Given the description of an element on the screen output the (x, y) to click on. 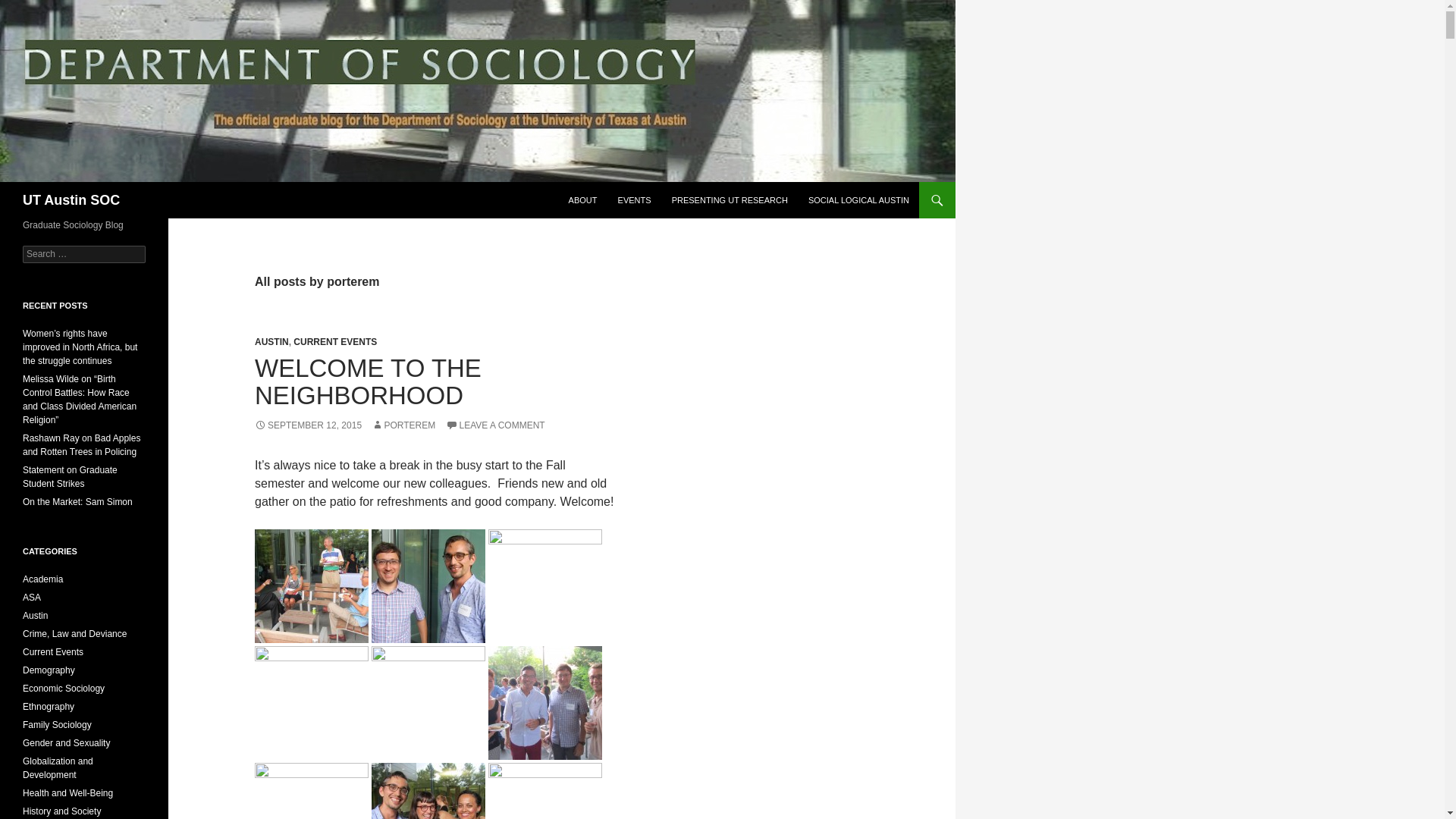
SEPTEMBER 12, 2015 (307, 425)
UT Austin SOC (71, 199)
LEAVE A COMMENT (494, 425)
EVENTS (634, 199)
ABOUT (583, 199)
WELCOME TO THE NEIGHBORHOOD (367, 381)
PRESENTING UT RESEARCH (729, 199)
SOCIAL LOGICAL AUSTIN (858, 199)
